Given the description of an element on the screen output the (x, y) to click on. 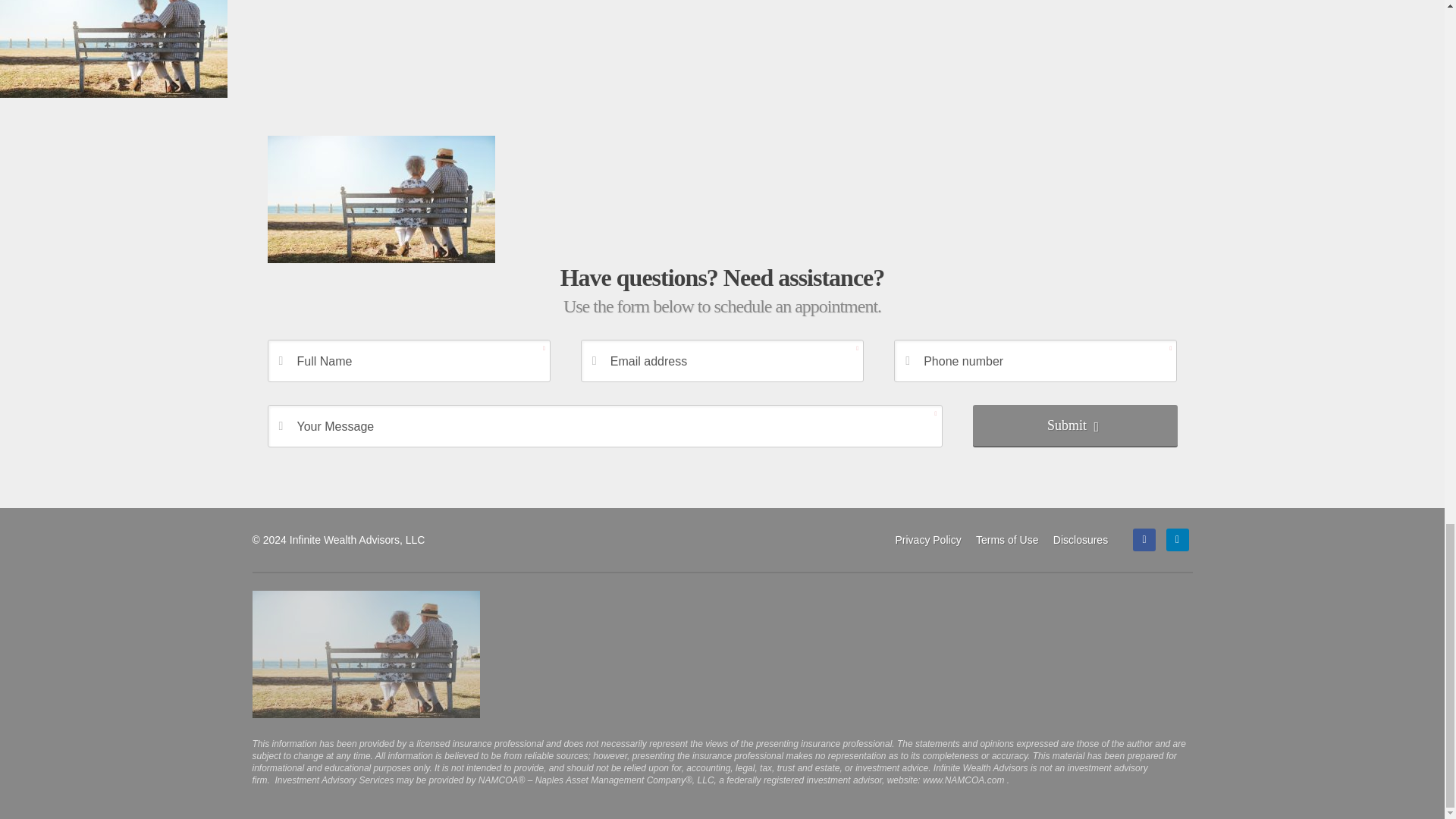
Disclosures (1079, 539)
Visit us on facebook (1144, 539)
Visit us on linkedin (1177, 539)
Submit (1074, 425)
Privacy Policy (927, 539)
www.NAMCOA.com (963, 779)
Terms of Use (1006, 539)
